Given the description of an element on the screen output the (x, y) to click on. 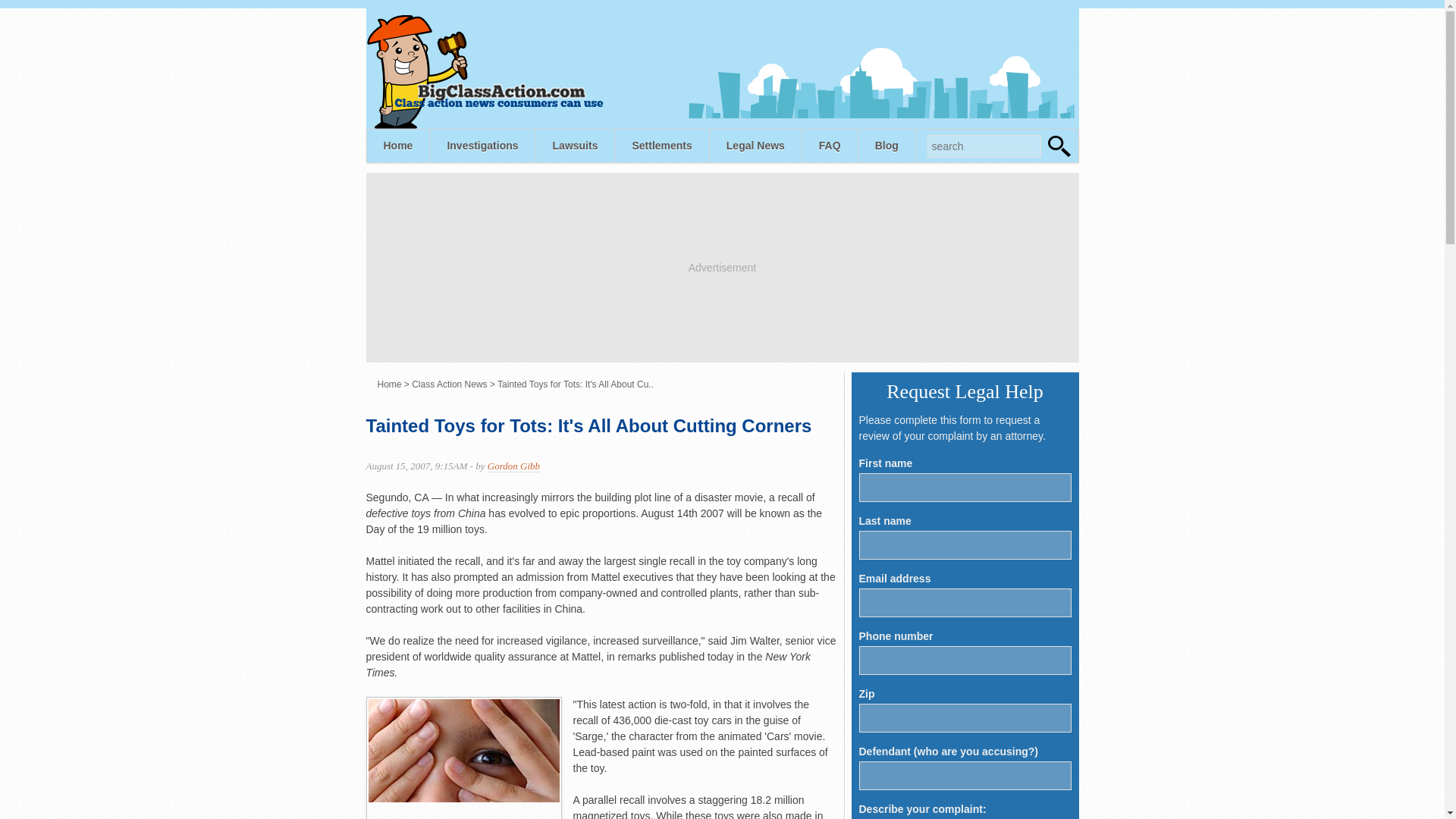
Gordon Gibb (513, 466)
Blog (887, 145)
Settlements (660, 145)
Lawsuits (574, 145)
Class Action News (449, 384)
FAQ (829, 145)
Legal News (756, 145)
Home (397, 145)
Home (389, 384)
Investigations (481, 145)
